Given the description of an element on the screen output the (x, y) to click on. 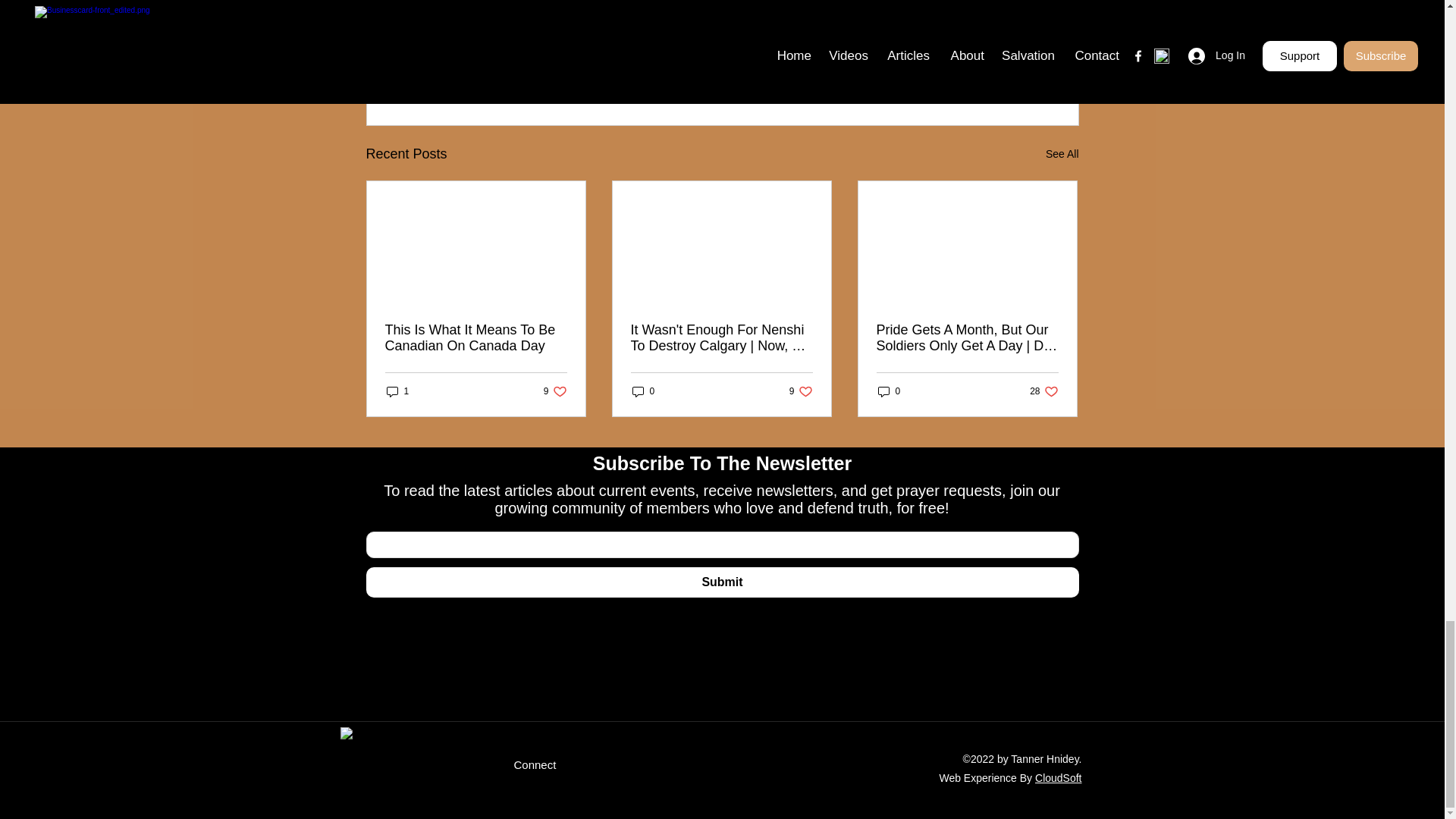
See All (800, 391)
0 (1061, 154)
0 (889, 391)
This Is What It Means To Be Canadian On Canada Day (643, 391)
1 (476, 337)
